Given the description of an element on the screen output the (x, y) to click on. 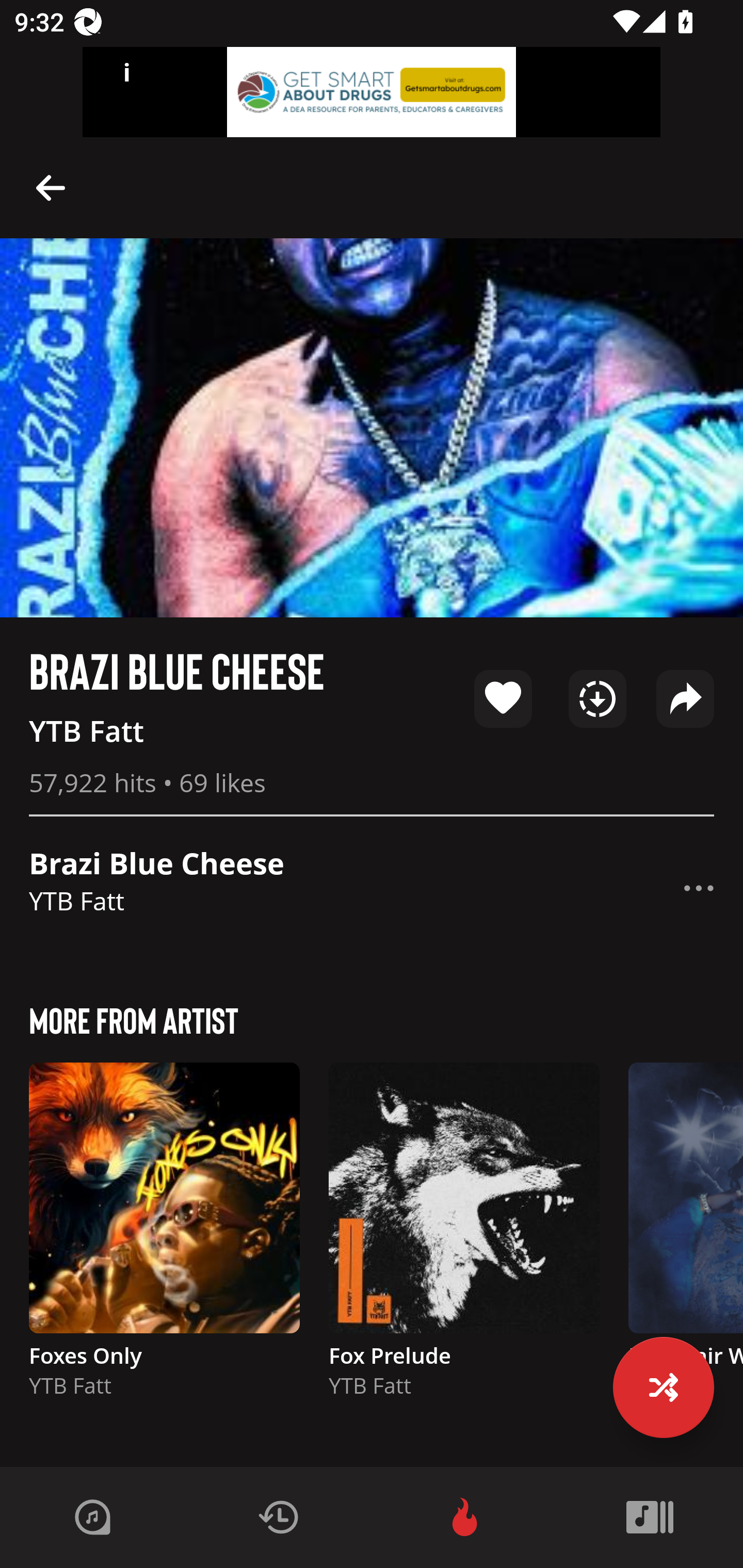
Description (50, 187)
Brazi Blue Cheese YTB Fatt Description (371, 888)
Description (698, 888)
Description Foxes Only YTB Fatt (164, 1238)
Description Fox Prelude YTB Fatt (463, 1238)
